Given the description of an element on the screen output the (x, y) to click on. 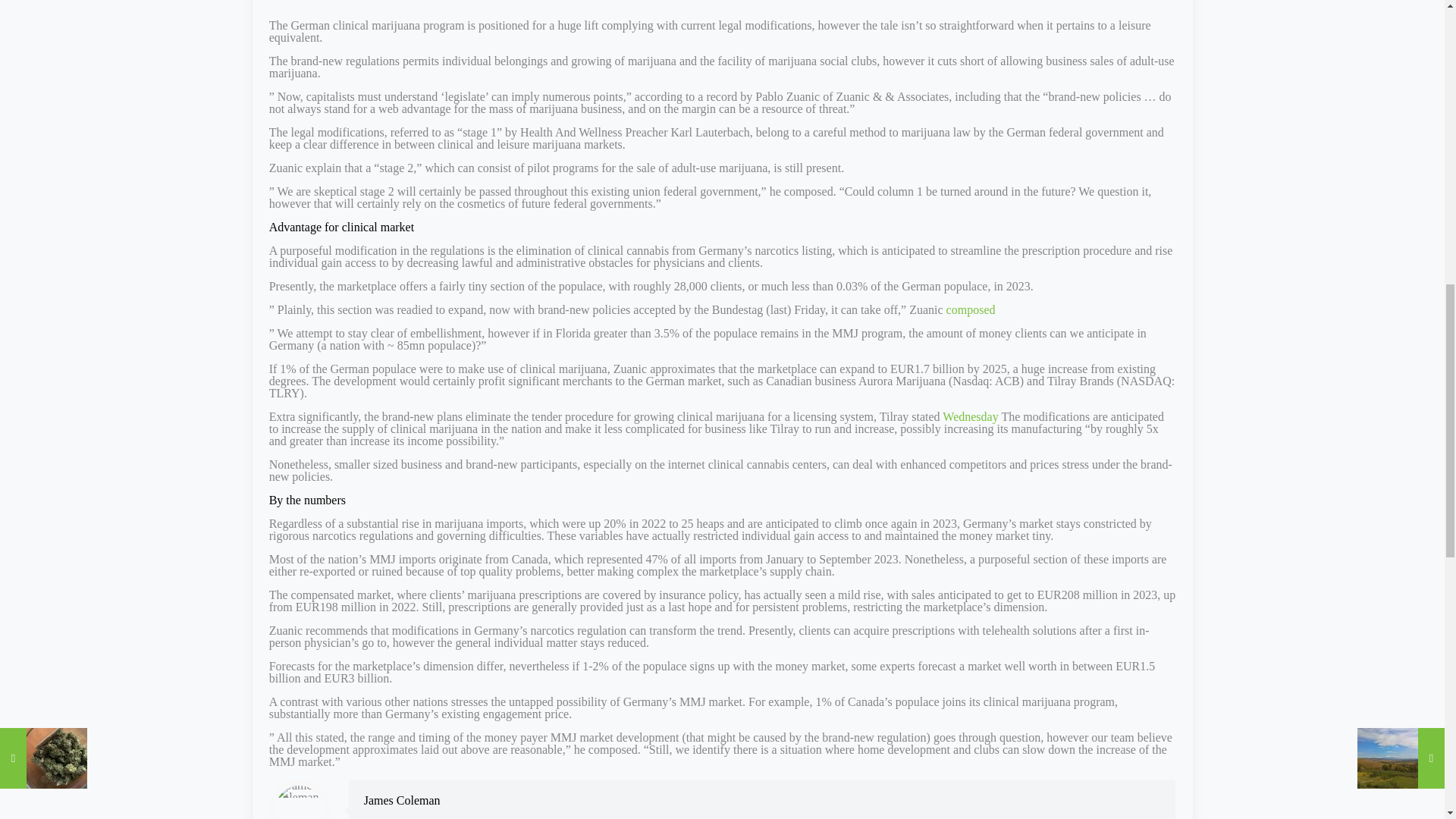
James Coleman (402, 799)
Wednesday (969, 416)
composed (970, 309)
